Given the description of an element on the screen output the (x, y) to click on. 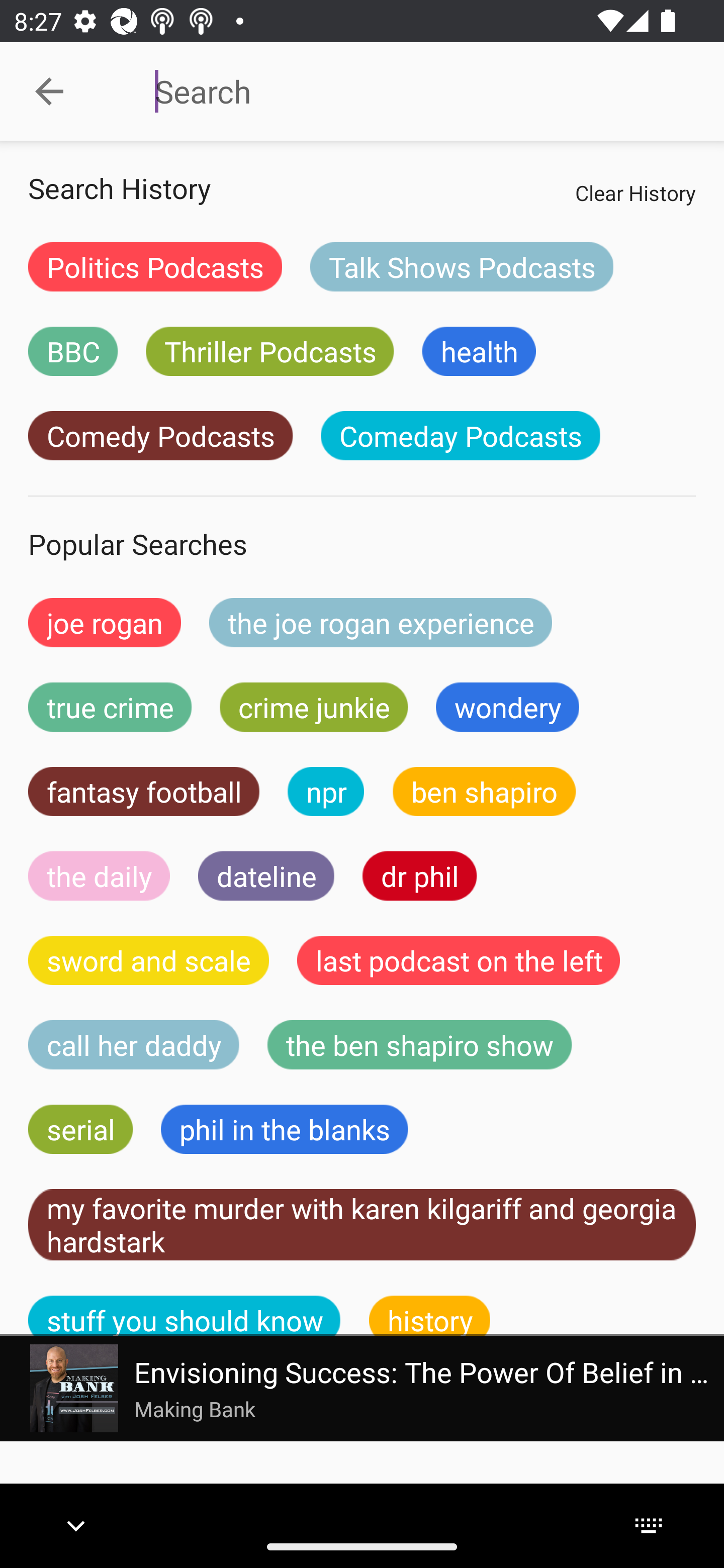
Collapse (49, 91)
Search (407, 91)
Clear History (634, 192)
Politics Podcasts (155, 266)
Talk Shows Podcasts (461, 266)
BBC (72, 351)
Thriller Podcasts (269, 351)
health (478, 351)
Comedy Podcasts (160, 435)
Comeday Podcasts (460, 435)
joe rogan (104, 622)
the joe rogan experience (380, 622)
true crime (109, 707)
crime junkie (313, 707)
wondery (507, 707)
fantasy football (143, 791)
npr (325, 791)
ben shapiro (483, 791)
the daily (99, 875)
dateline (266, 875)
dr phil (419, 875)
sword and scale (148, 960)
last podcast on the left (458, 960)
call her daddy (133, 1044)
the ben shapiro show (419, 1044)
serial (80, 1128)
phil in the blanks (283, 1128)
stuff you should know (184, 1315)
history (429, 1315)
